Given the description of an element on the screen output the (x, y) to click on. 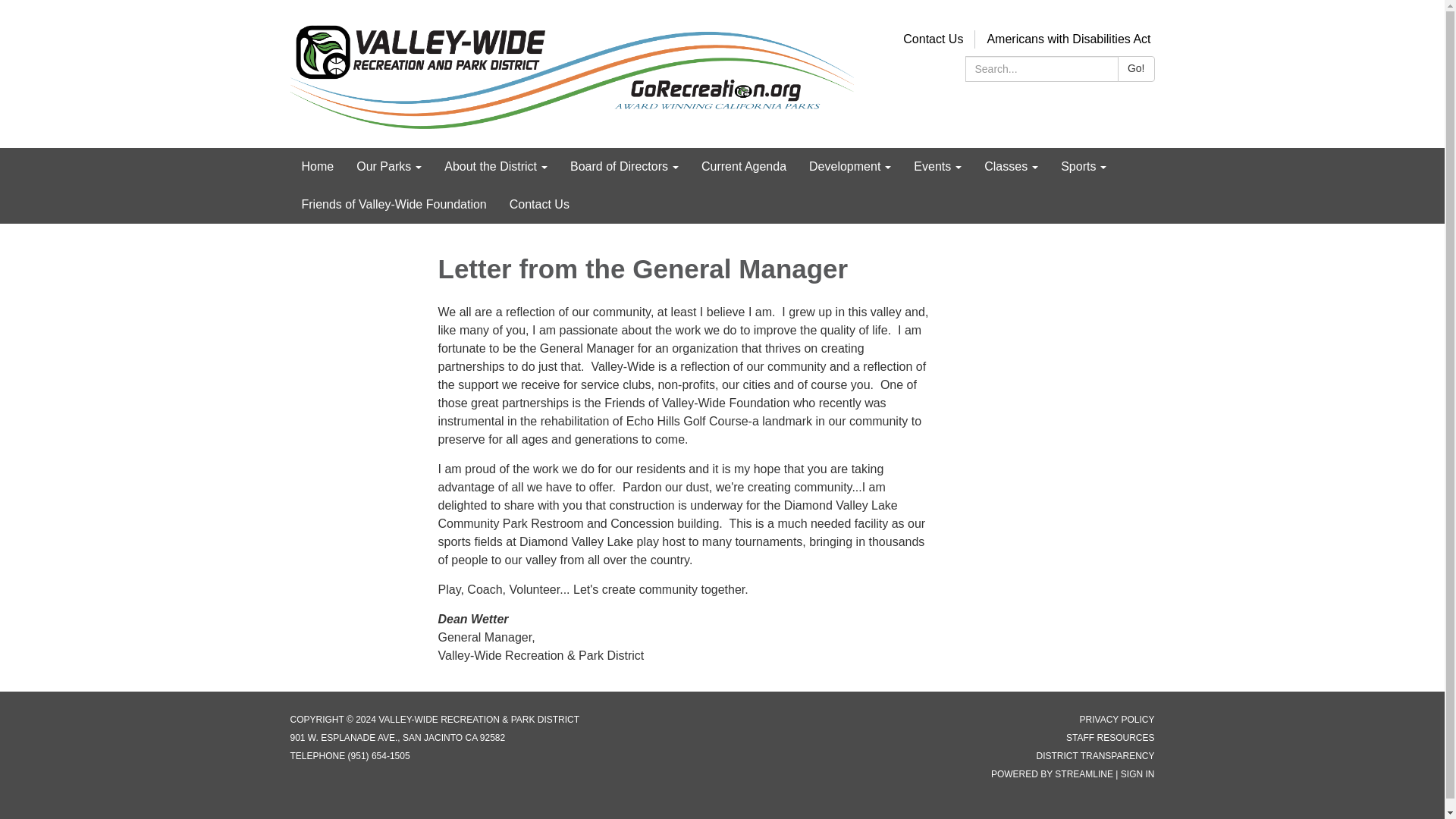
Our Parks (388, 166)
Americans with Disabilities Act (1068, 38)
Go! (1136, 68)
Contact Us (932, 38)
Streamline: Technology for Special Districts (1083, 774)
Special District Transparency Report (1094, 756)
Home (317, 166)
